Given the description of an element on the screen output the (x, y) to click on. 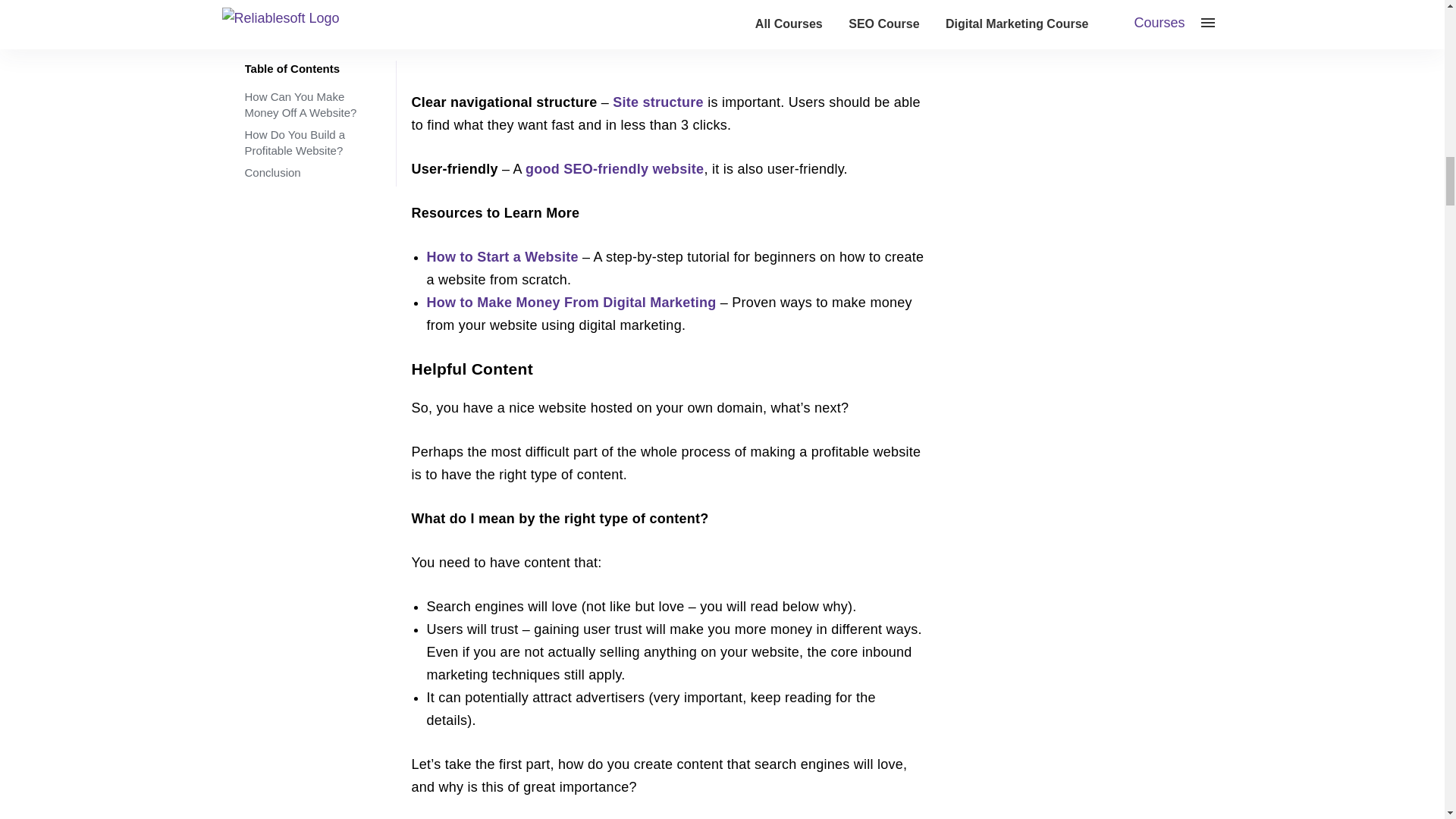
good SEO-friendly website (614, 168)
Site structure (657, 102)
How to Start a Website (503, 256)
How to Make Money From Digital Marketing (571, 302)
